Given the description of an element on the screen output the (x, y) to click on. 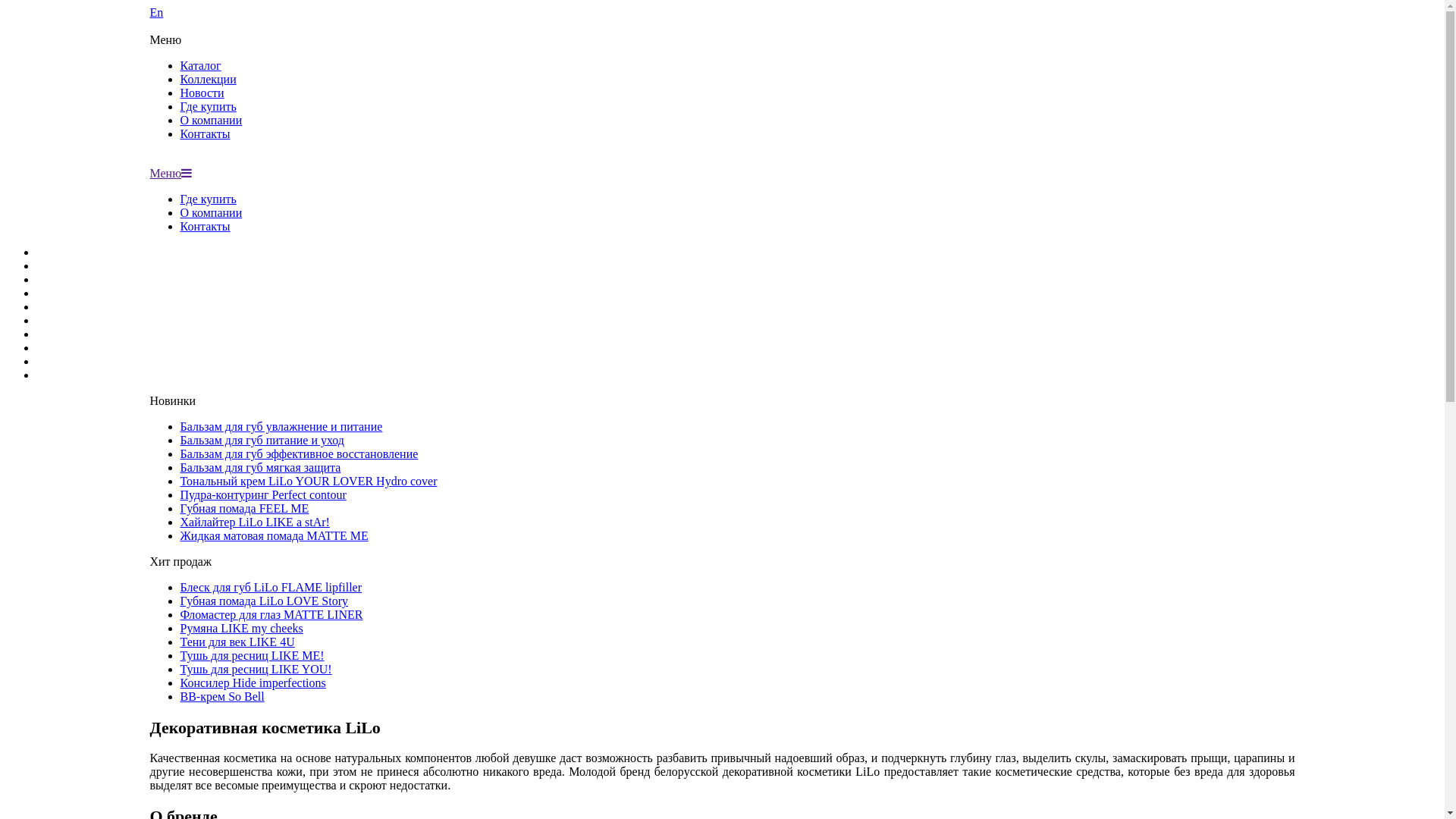
En Element type: text (722, 19)
